Given the description of an element on the screen output the (x, y) to click on. 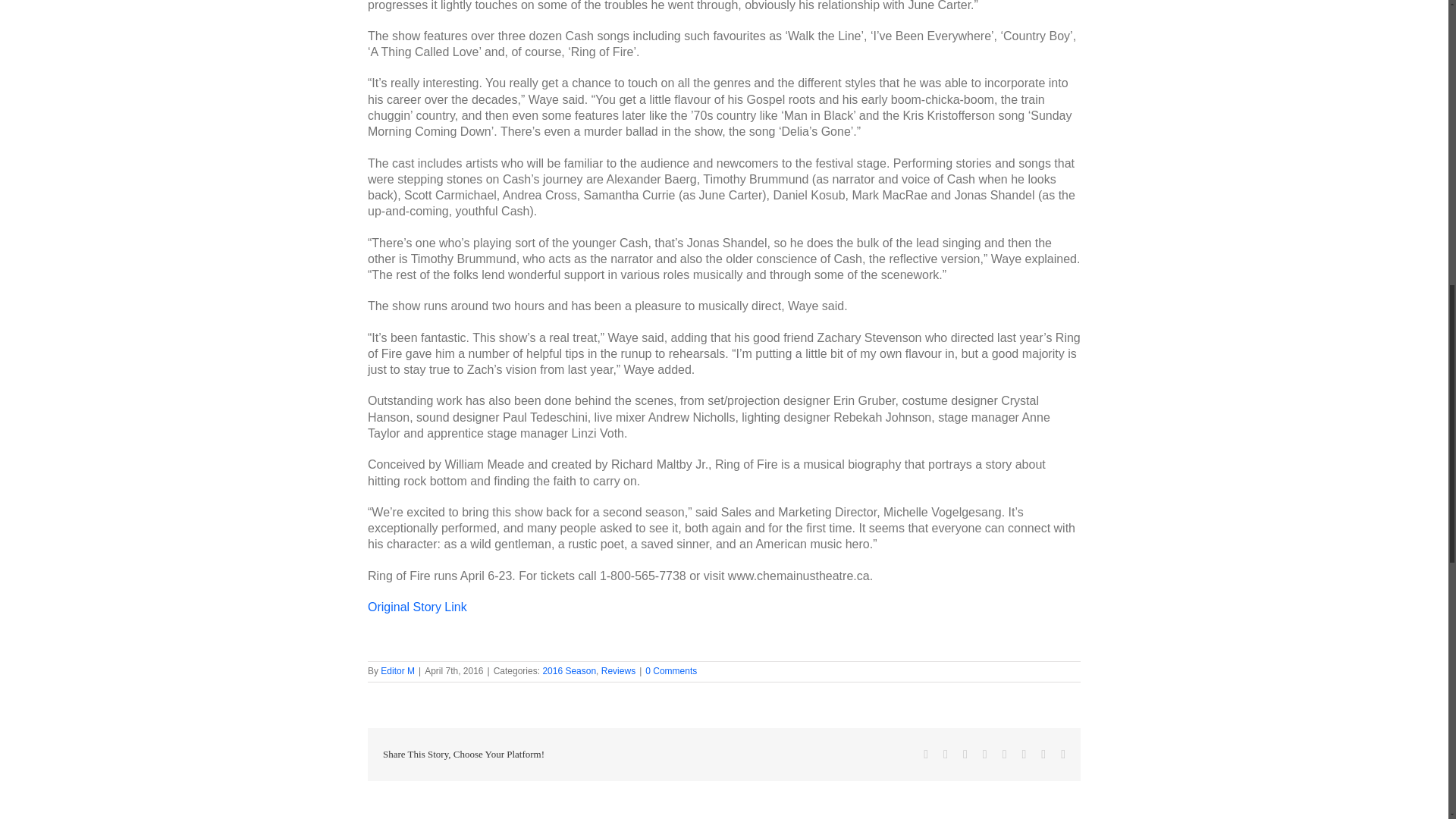
Posts by Editor M (397, 670)
